Given the description of an element on the screen output the (x, y) to click on. 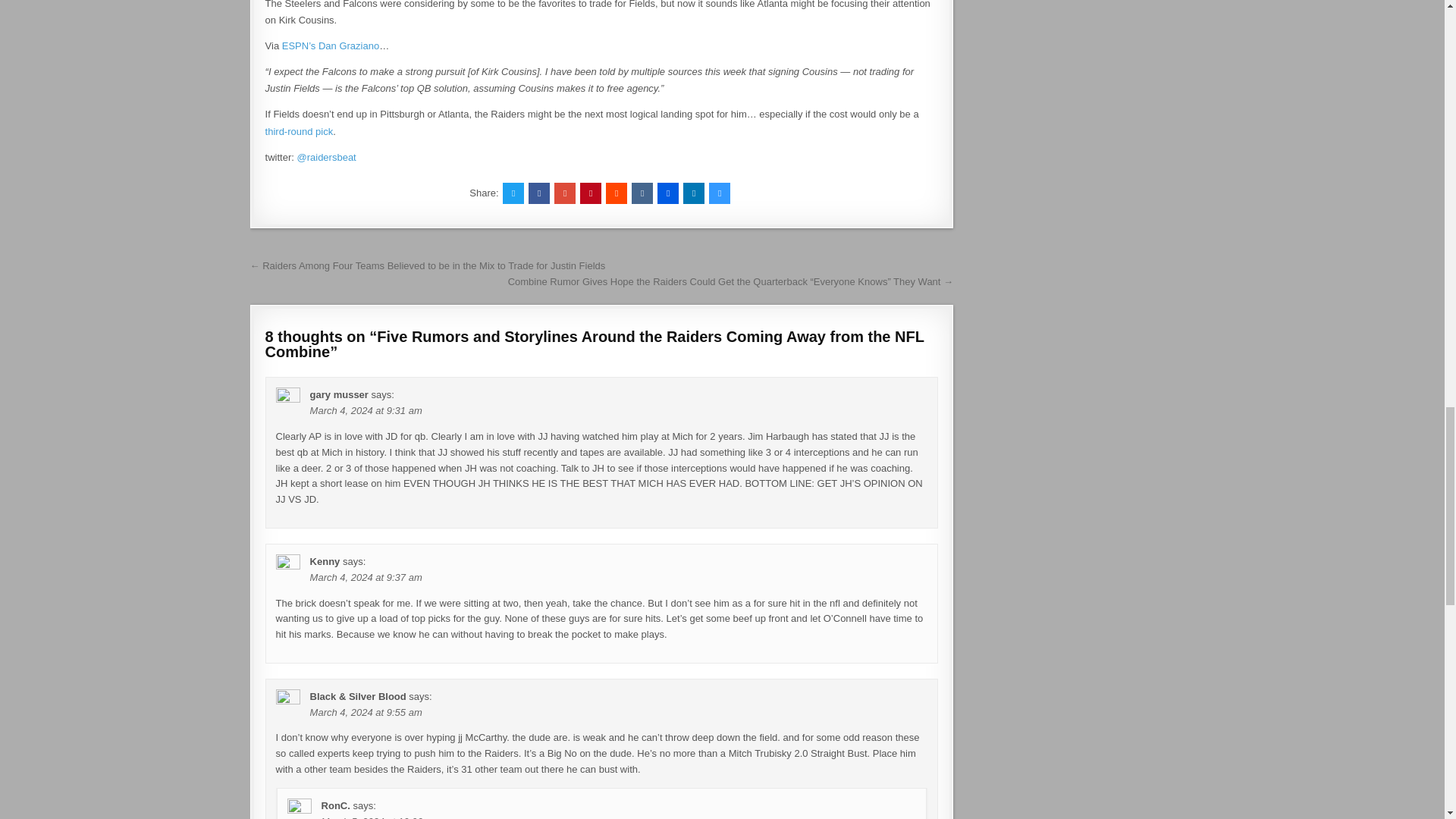
third-round pick (298, 131)
Share this on Linkedin (693, 192)
March 4, 2024 at 9:55 am (366, 712)
March 4, 2024 at 9:31 am (366, 410)
Share this on Digg (668, 192)
Share this on Reddit (616, 192)
Share this on VK (641, 192)
Share this on Facebook (539, 192)
Tweet This! (513, 192)
Share this on Delicious (719, 192)
